Given the description of an element on the screen output the (x, y) to click on. 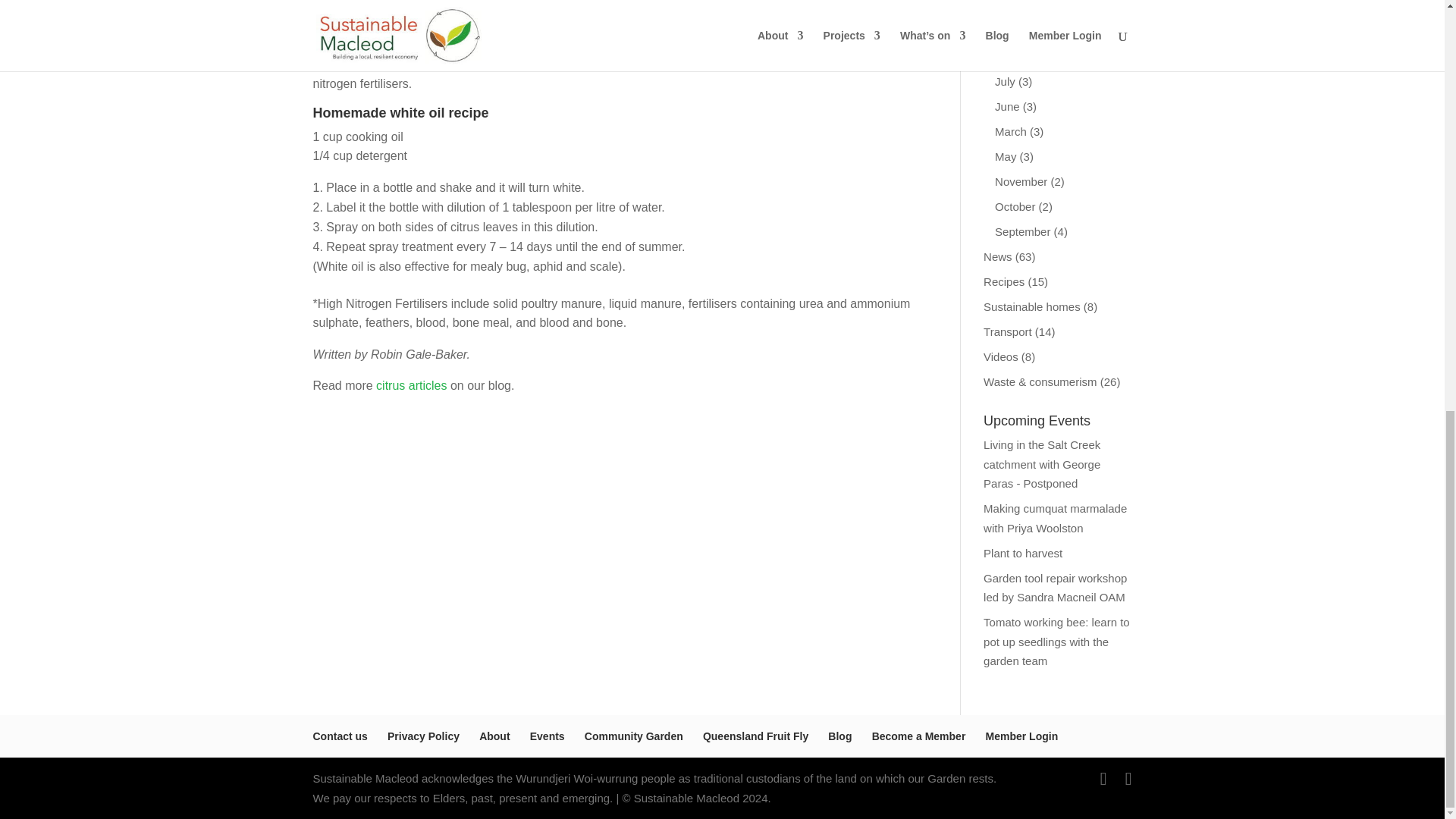
citrus articles (410, 385)
